Given the description of an element on the screen output the (x, y) to click on. 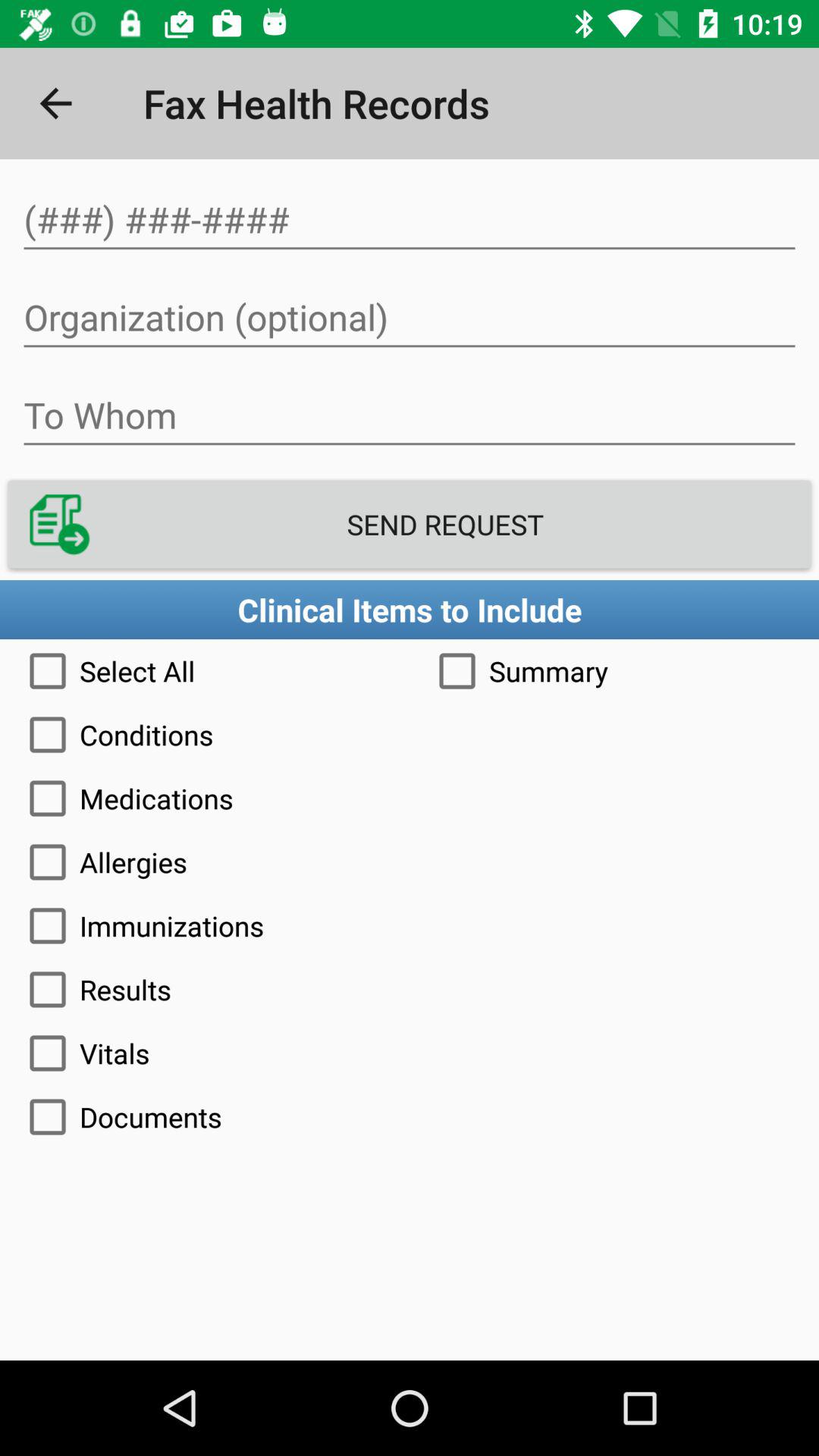
person to send fax to (409, 415)
